Given the description of an element on the screen output the (x, y) to click on. 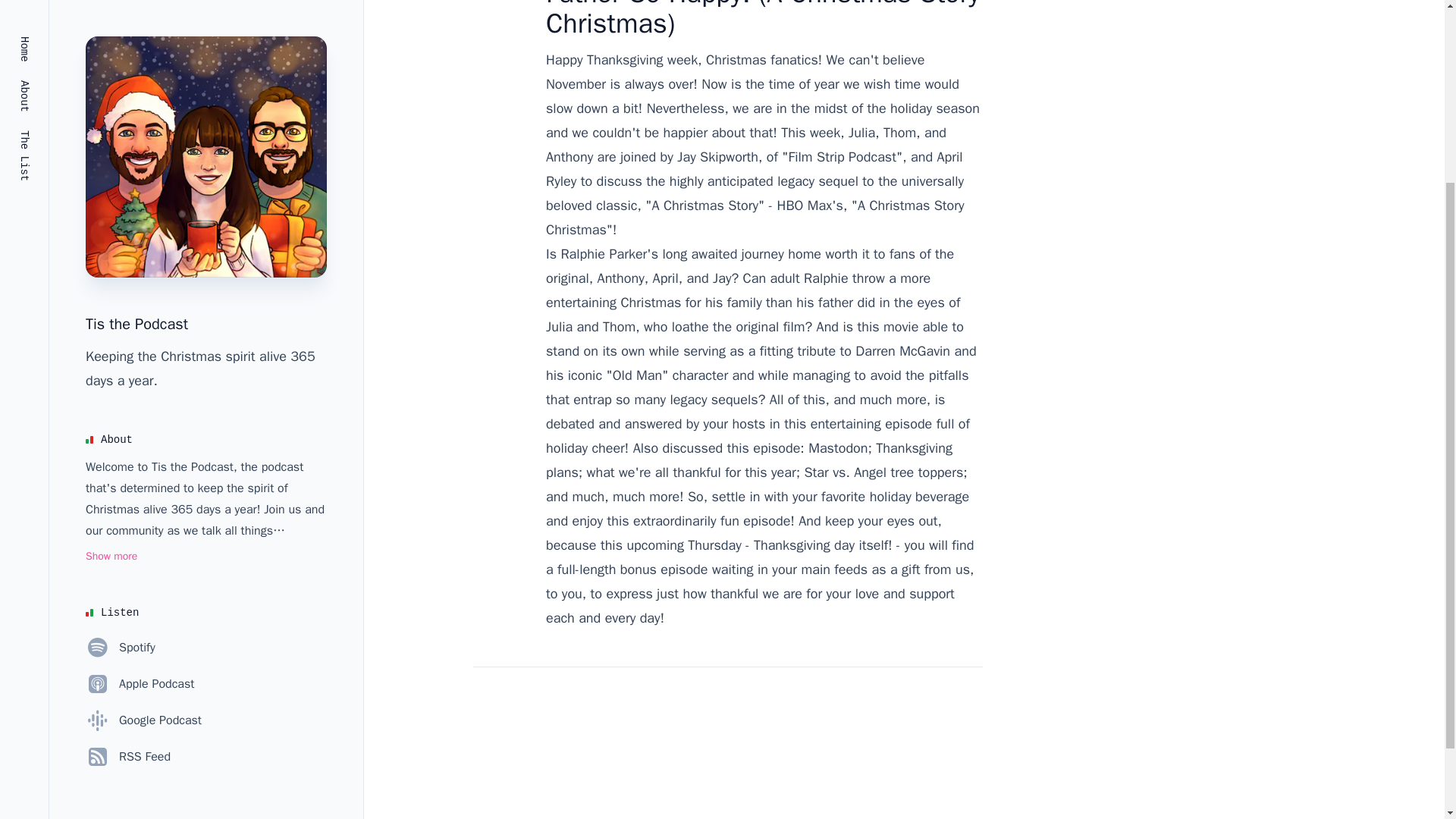
RSS Feed (127, 507)
Show more (110, 307)
Tis the Podcast (136, 74)
Spotify (120, 397)
Apple Podcast (139, 434)
Google Podcast (143, 470)
